Given the description of an element on the screen output the (x, y) to click on. 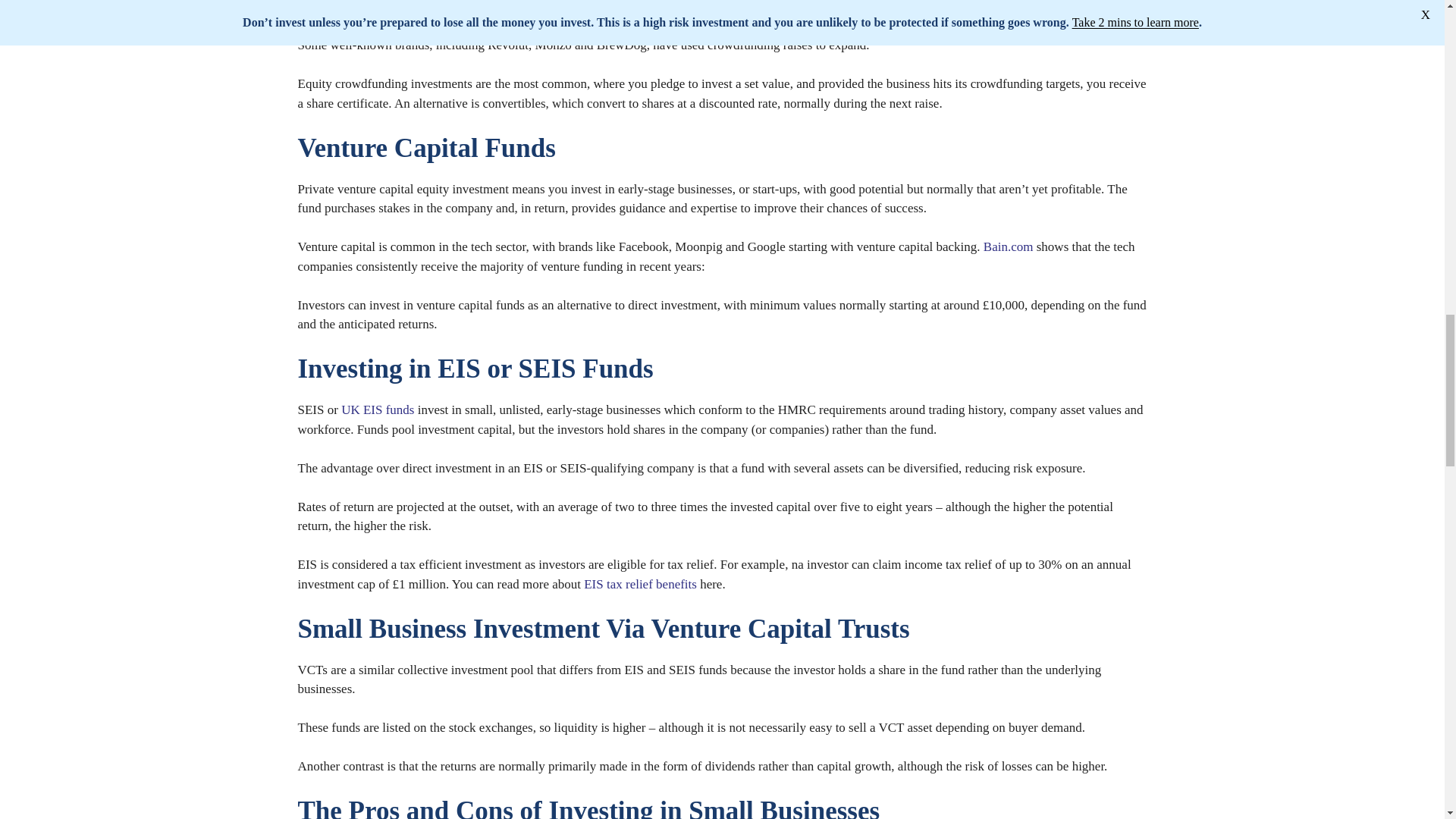
Beauhurst.com (725, 6)
EIS tax relief benefits (640, 584)
UK EIS funds (376, 409)
Bain.com (1008, 246)
